Given the description of an element on the screen output the (x, y) to click on. 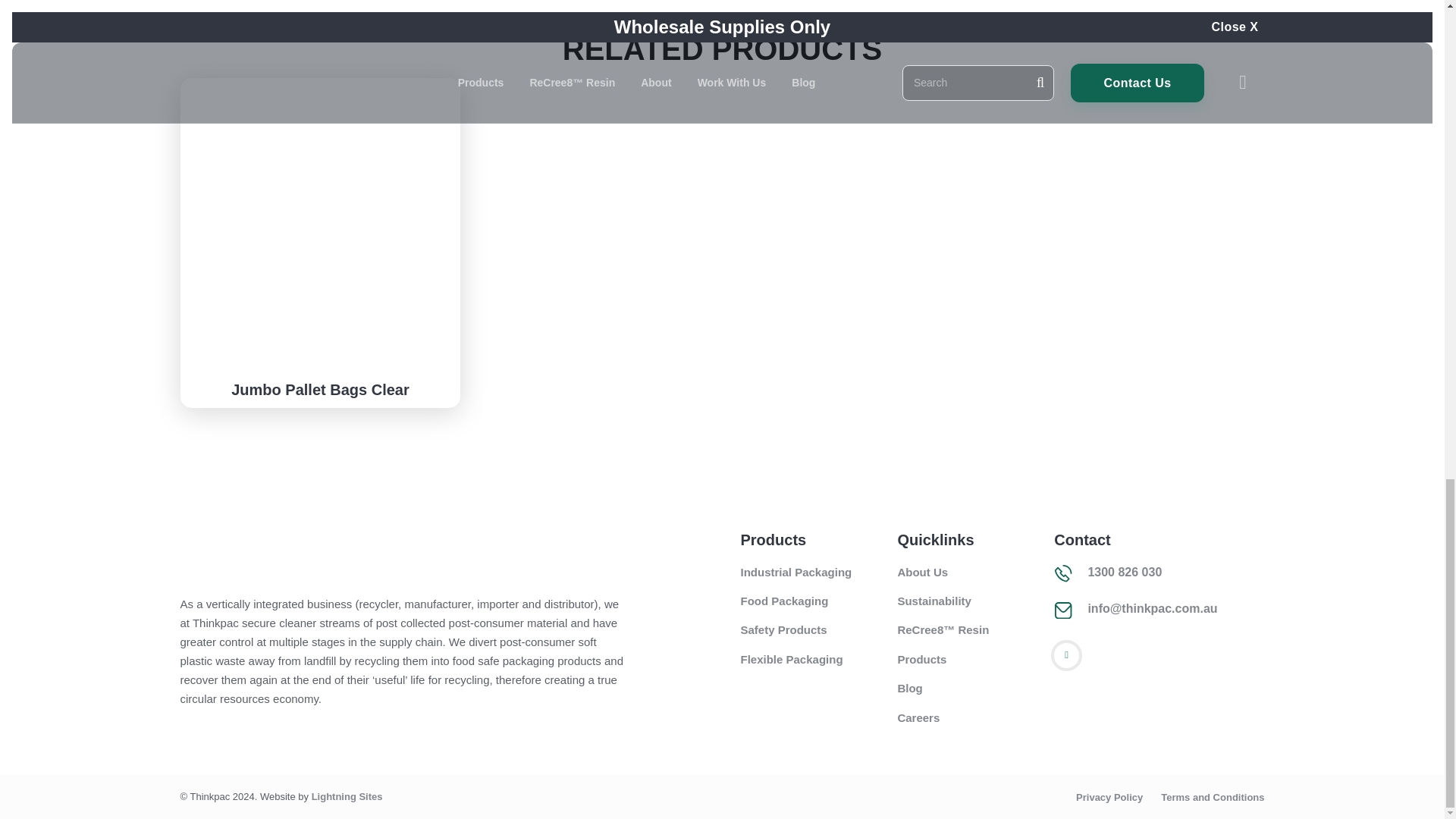
LinkedIn (1066, 655)
Industrial Packaging (795, 571)
Jumbo Pallet Bags Clear (320, 389)
